Given the description of an element on the screen output the (x, y) to click on. 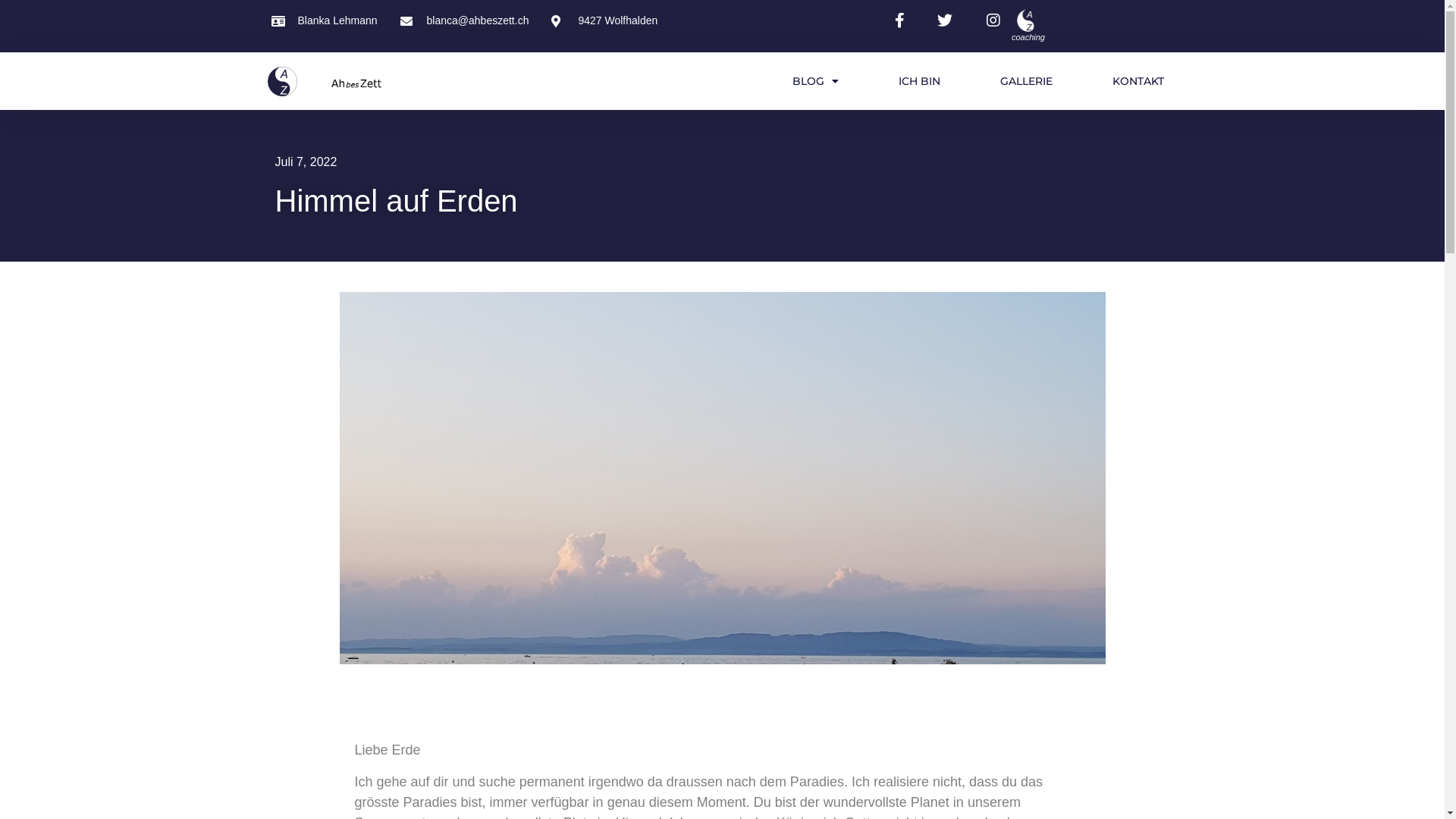
BLOG Element type: text (815, 80)
Juli 7, 2022 Element type: text (305, 162)
GALLERIE Element type: text (1026, 80)
ICH BIN Element type: text (919, 80)
KONTAKT Element type: text (1137, 80)
